Given the description of an element on the screen output the (x, y) to click on. 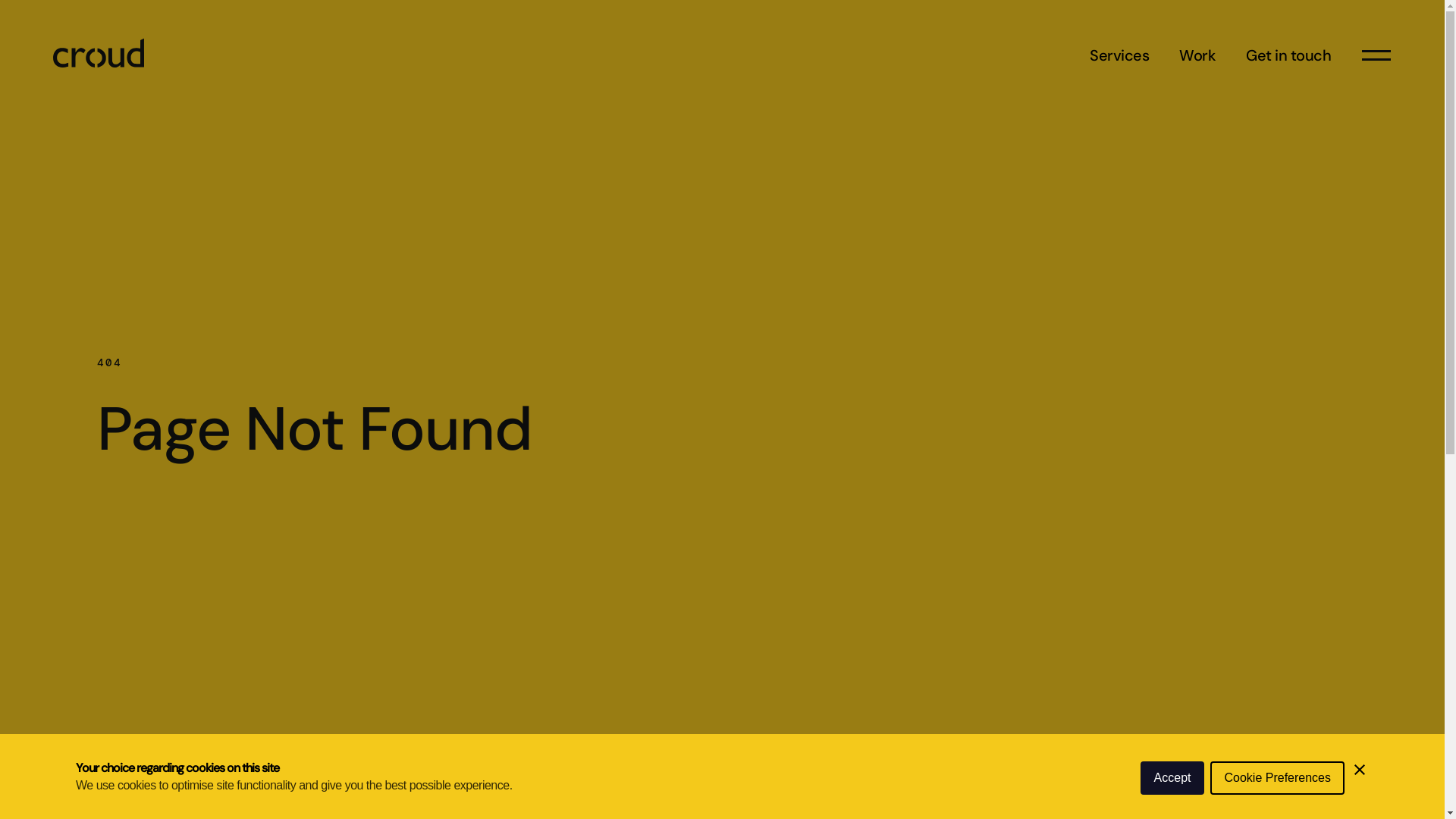
Cookie Preferences Element type: text (1277, 777)
Get in touch Element type: text (1287, 55)
Services Element type: text (1118, 55)
Accept Element type: text (1172, 777)
Work Element type: text (1197, 55)
